Given the description of an element on the screen output the (x, y) to click on. 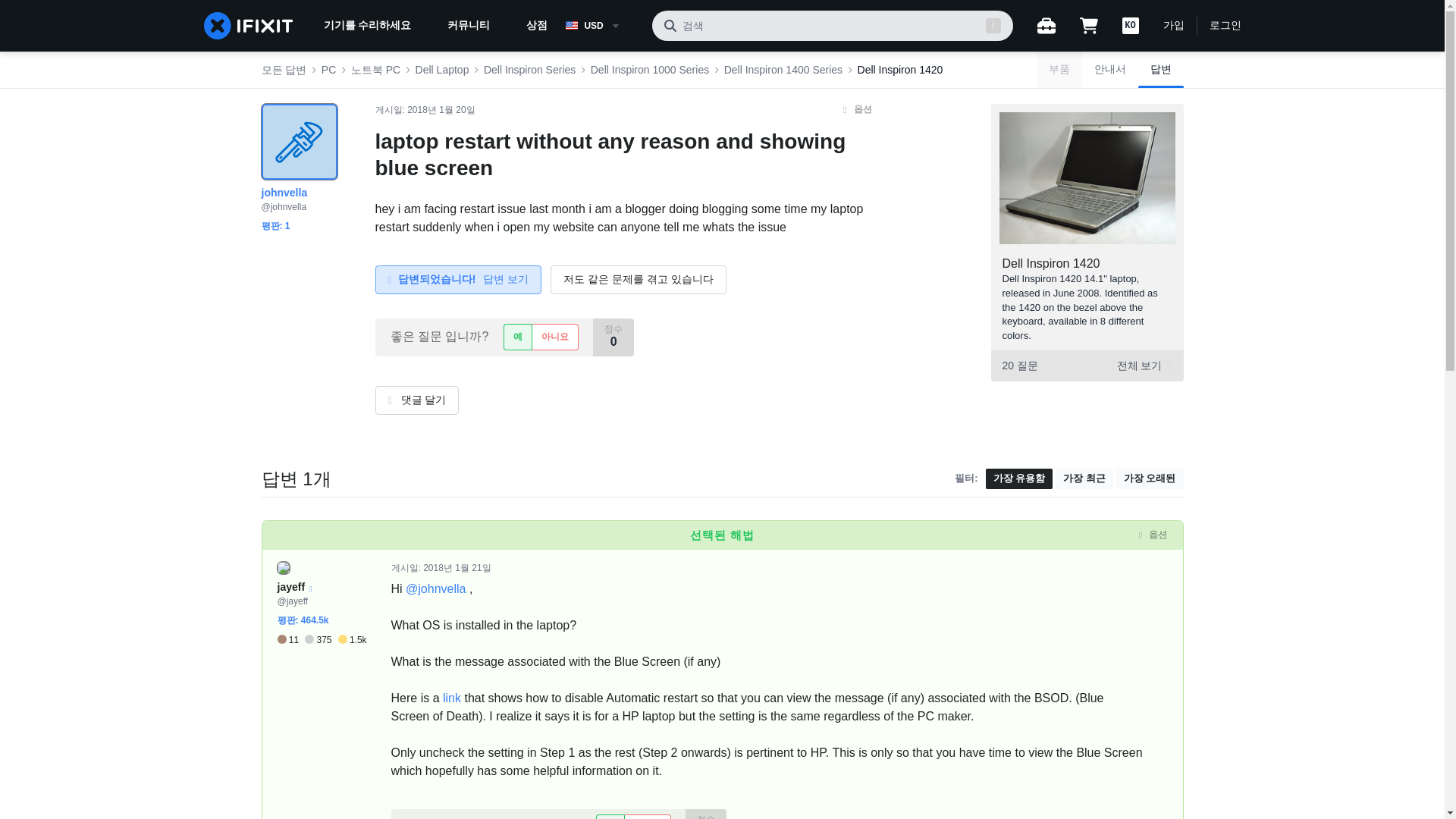
Sun, 21 Jan 2018 01:29:46 -0700 (456, 567)
PC (328, 69)
Dell Inspiron 1000 Series (650, 69)
USD (602, 25)
Sat, 20 Jan 2018 14:34:42 -0700 (440, 109)
Dell Laptop (441, 69)
Dell Inspiron 1400 Series (783, 69)
Dell Inspiron 1420 (900, 69)
Dell Inspiron Series (529, 69)
Dell Inspiron 1420 (1051, 263)
